Given the description of an element on the screen output the (x, y) to click on. 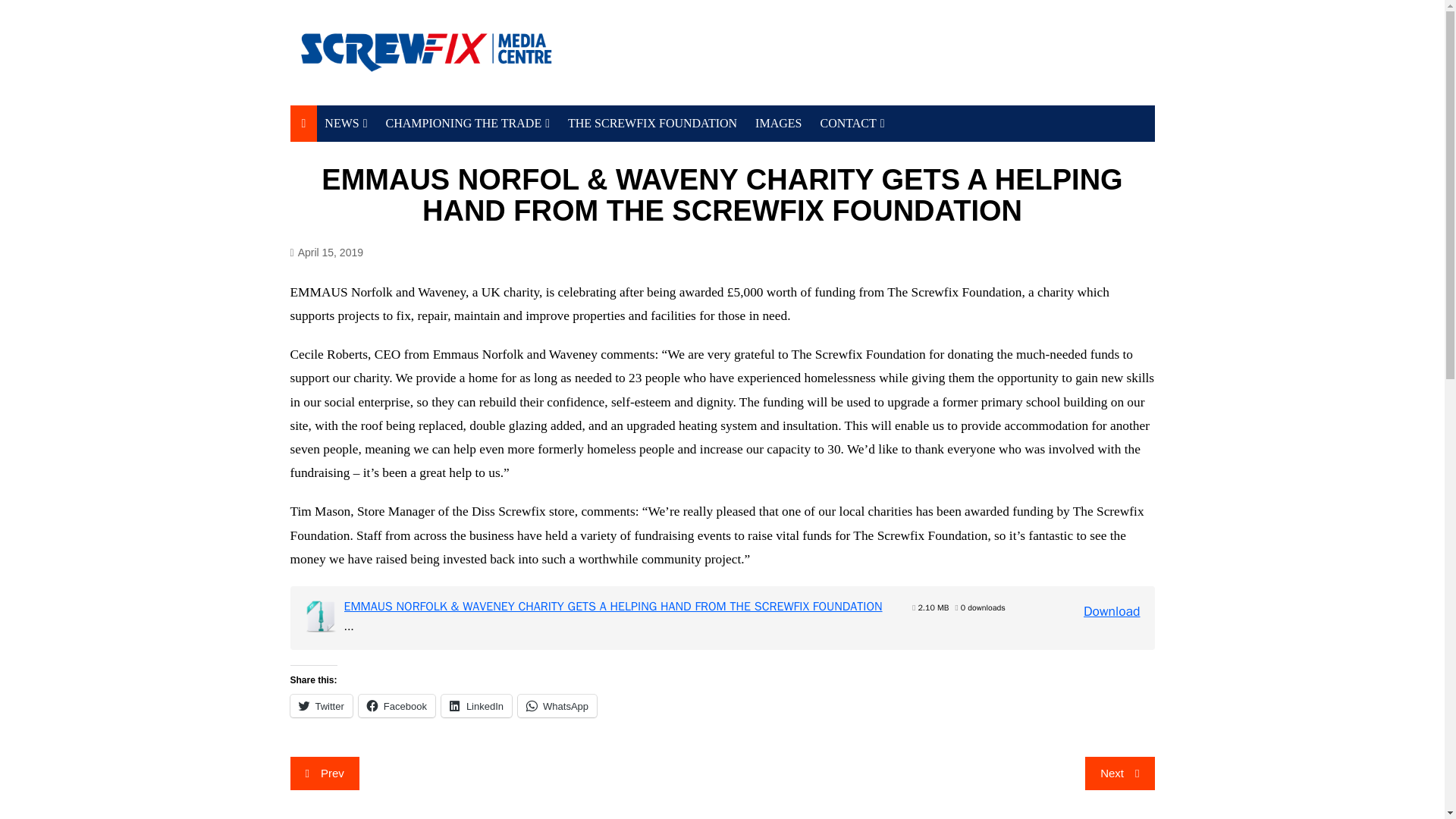
Download (1111, 610)
Next (1119, 773)
Click to share on Facebook (396, 705)
Click to share on Twitter (320, 705)
Prev (323, 773)
LinkedIn (476, 705)
Facebook (396, 705)
SUSTAINABILITY (400, 154)
CONTACT (851, 123)
Click to share on LinkedIn (476, 705)
Twitter (320, 705)
SCREWFIX TOP TRADESPERSON (461, 160)
SCREWFIX EUROPE (895, 154)
NEWS (345, 123)
SCREWFIX LIVE (400, 179)
